Given the description of an element on the screen output the (x, y) to click on. 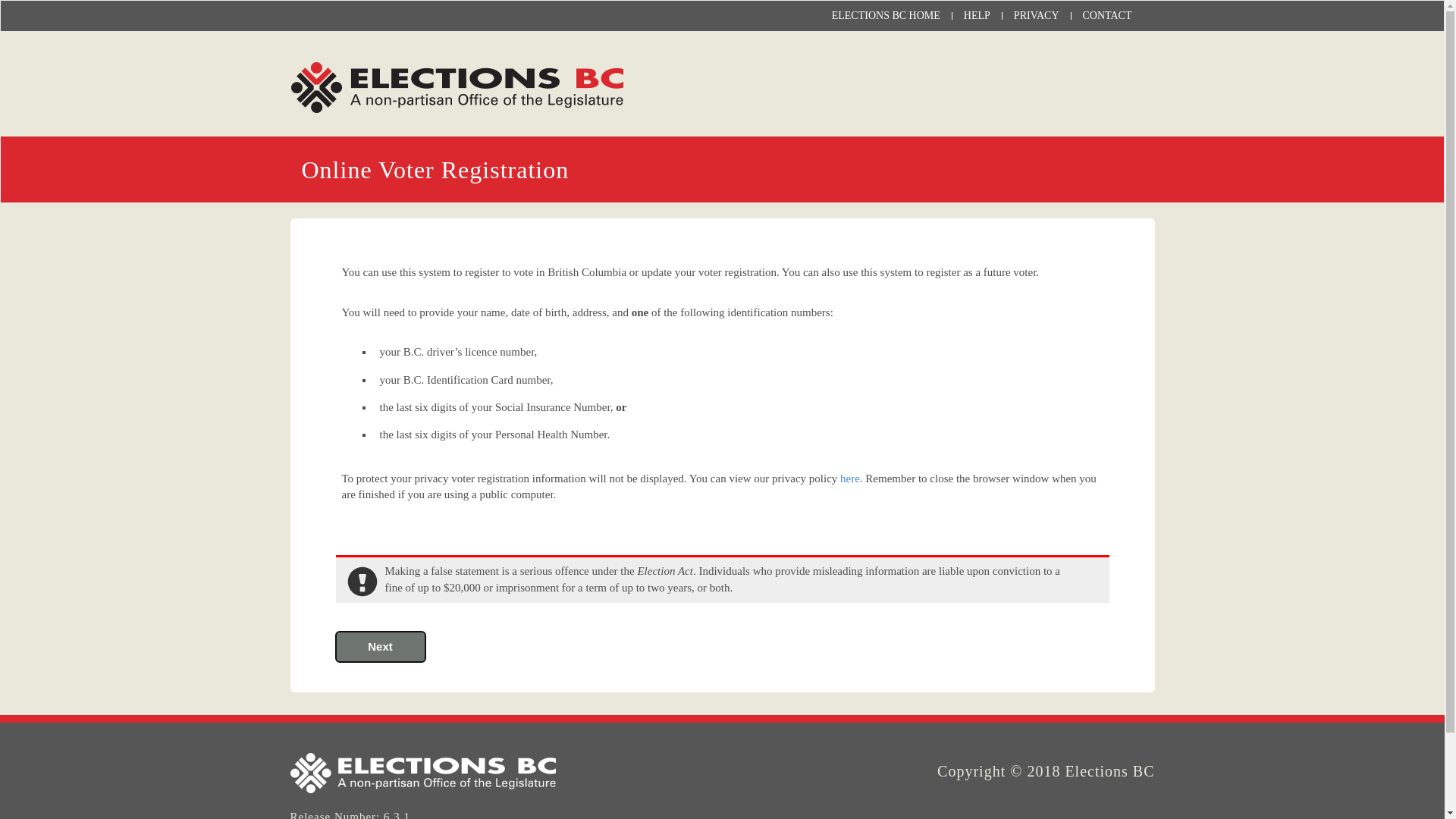
ELECTIONS BC HOME Element type: text (885, 15)
Click to continue Element type: hover (379, 646)
here Element type: text (849, 478)
Next Element type: text (379, 646)
HELP Element type: text (976, 15)
PRIVACY Element type: text (1036, 15)
CONTACT Element type: text (1106, 15)
